Given the description of an element on the screen output the (x, y) to click on. 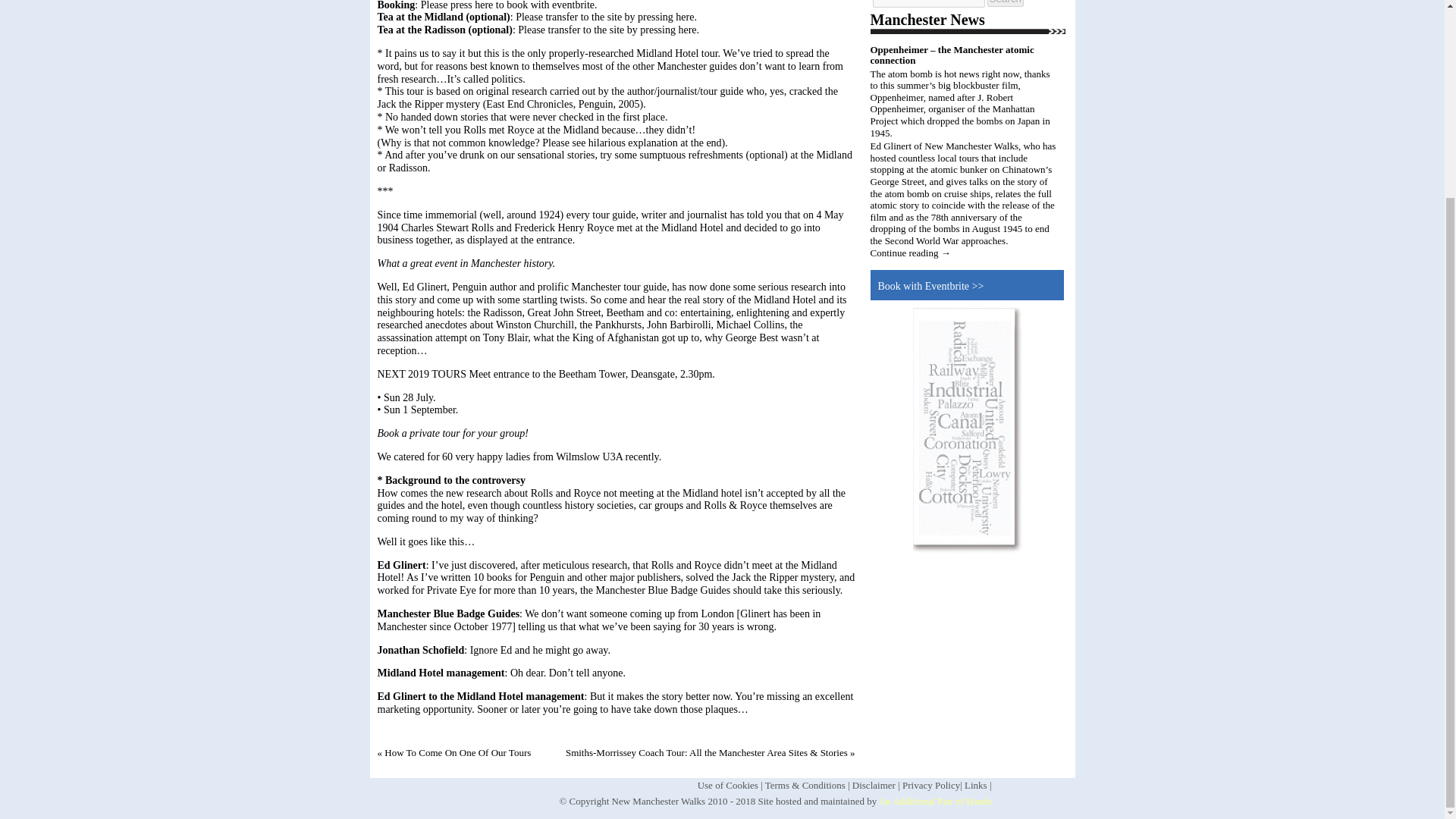
Disclaimer (873, 785)
Search (1005, 3)
Links (975, 785)
Privacy Policy (930, 785)
Please transfer to the site by pressing here (606, 30)
Search (1005, 3)
Please transfer to the site by pressing here (604, 16)
How To Come On One Of Our Tours (457, 752)
Please press here to book with eventbrite (507, 5)
Use of Cookies (727, 785)
An Additional Pair of Hands (935, 800)
